Given the description of an element on the screen output the (x, y) to click on. 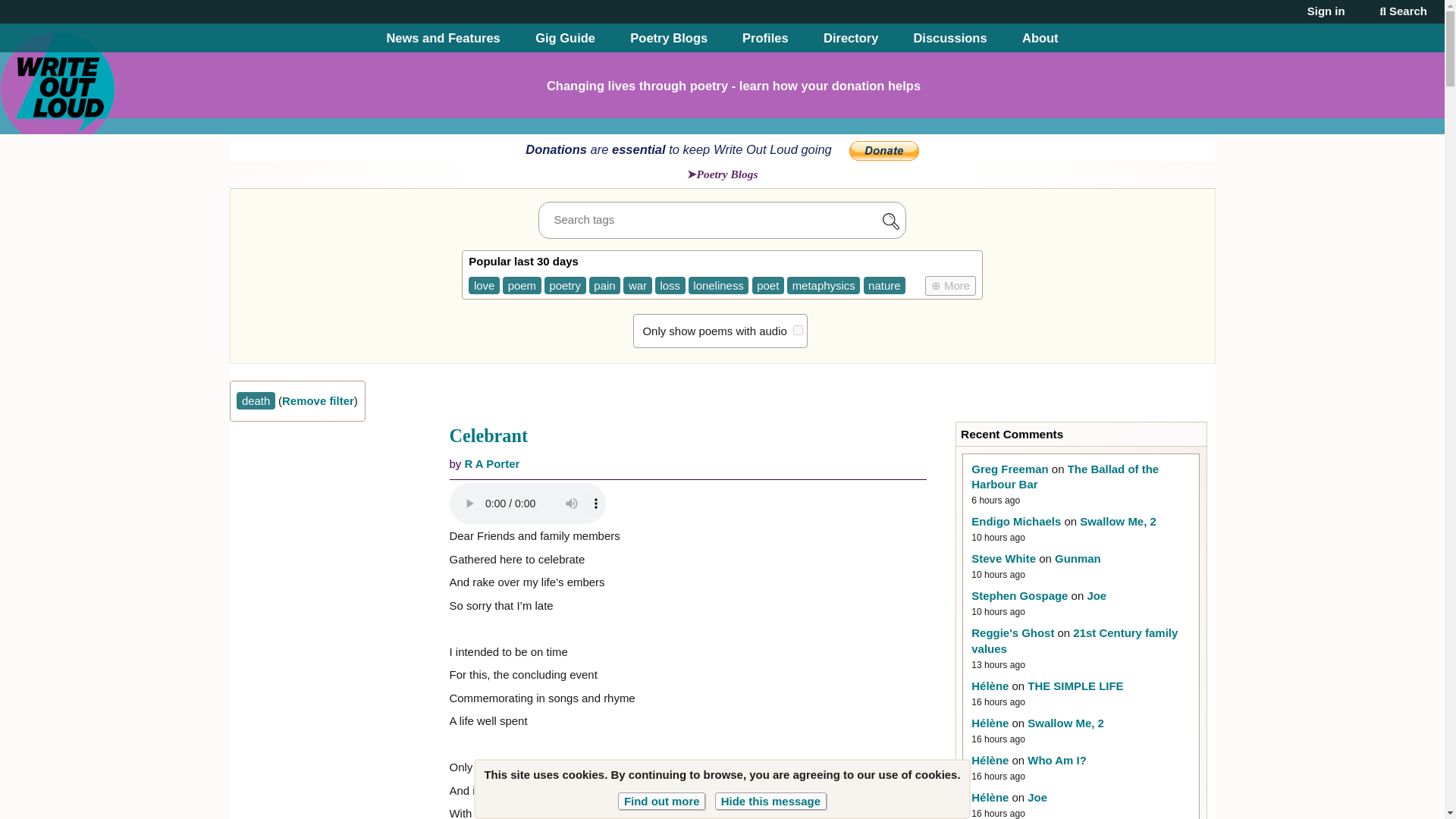
metaphysics (823, 285)
loneliness (718, 285)
Poetry Blogs (722, 173)
Directory (850, 38)
pain (604, 285)
Greg Freeman (1009, 468)
Remove filter (317, 400)
Poetry Blogs (668, 38)
poet (768, 285)
war (636, 285)
loss (670, 285)
Discussions (949, 38)
poetry (565, 285)
Gig Guide (565, 38)
News and Features (442, 38)
